Given the description of an element on the screen output the (x, y) to click on. 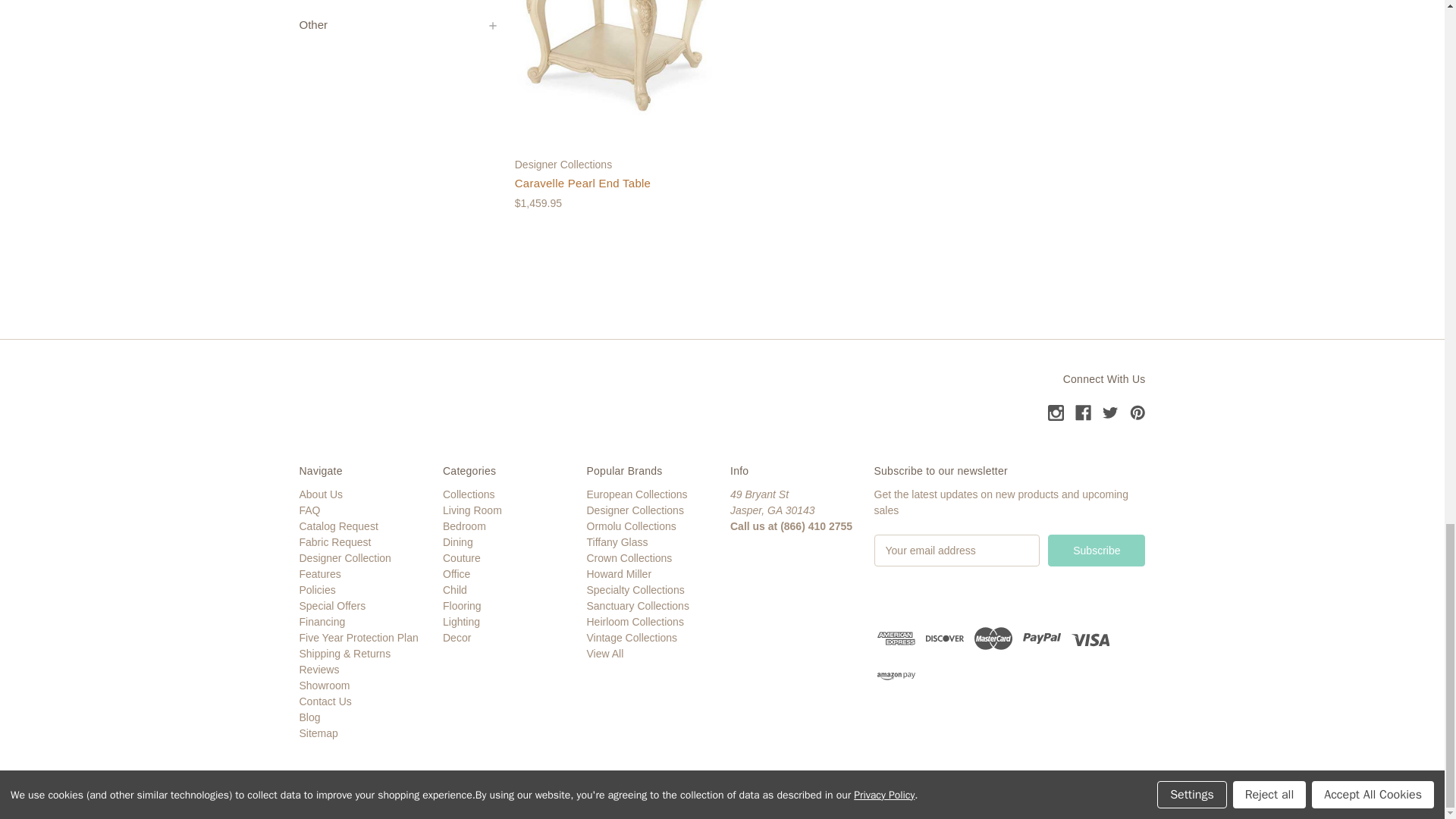
Caravelle Pearl End Table (613, 57)
Instagram (1056, 412)
Twitter (1110, 412)
Subscribe (1096, 550)
Facebook (1082, 412)
Pinterest (1137, 412)
